Given the description of an element on the screen output the (x, y) to click on. 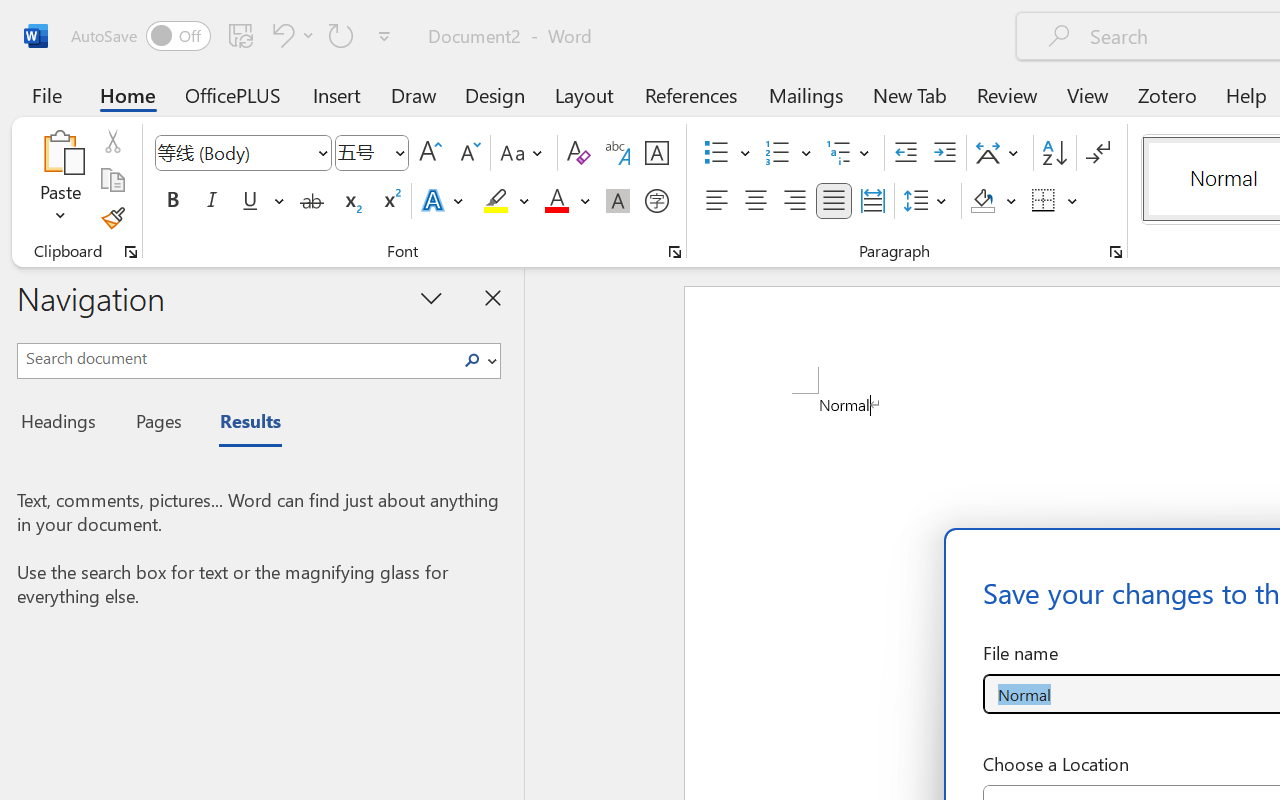
Enclose Characters... (656, 201)
Bullets (727, 153)
Paragraph... (1115, 252)
Character Shading (618, 201)
Layout (584, 94)
Font Size (362, 152)
Bold (172, 201)
Subscript (350, 201)
Character Border (656, 153)
Customize Quick Access Toolbar (384, 35)
Borders (1044, 201)
Undo Apply Quick Style (280, 35)
Headings (64, 424)
Underline (261, 201)
Decrease Indent (906, 153)
